Given the description of an element on the screen output the (x, y) to click on. 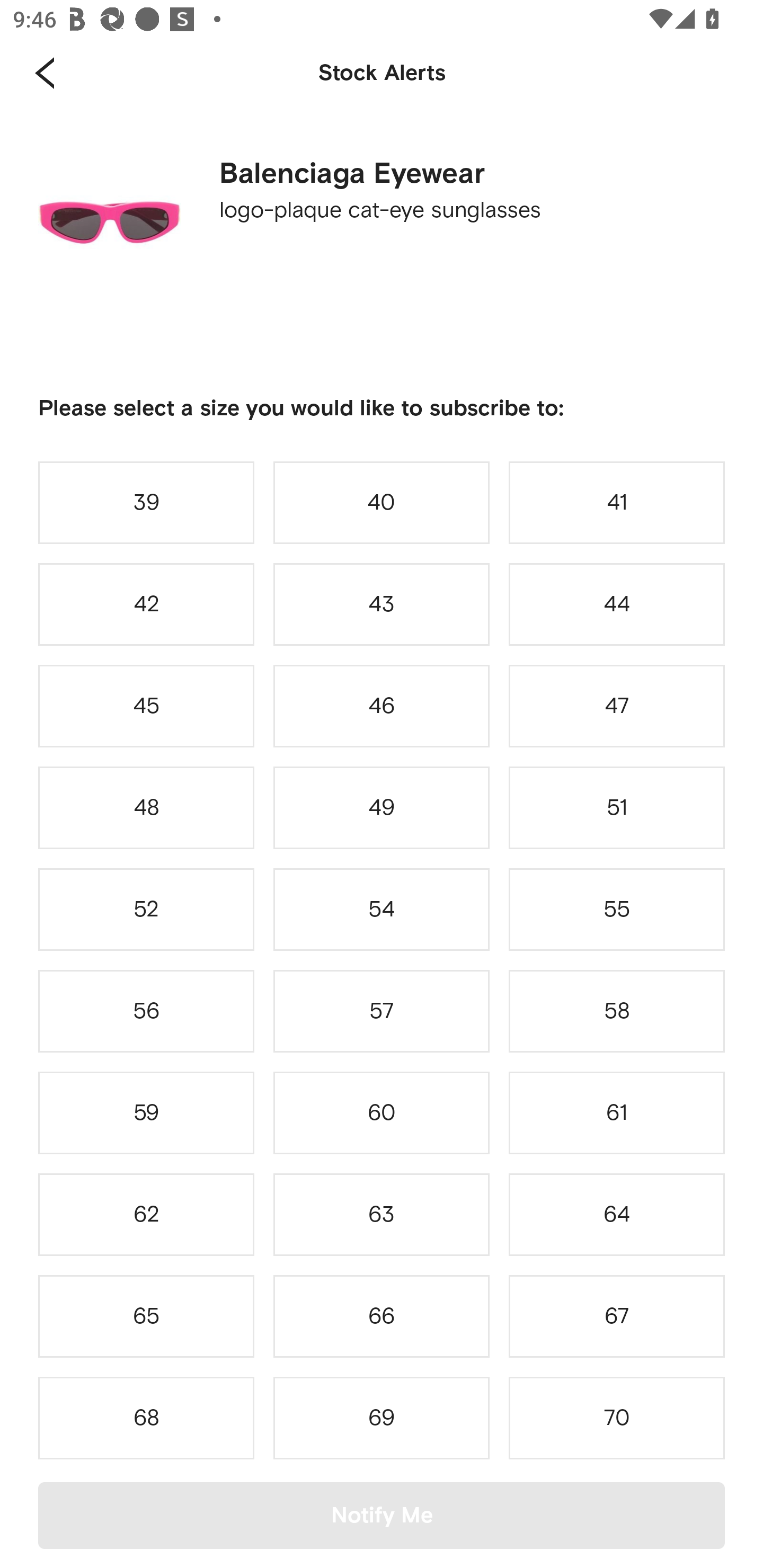
39 (146, 502)
40 (381, 502)
41 (616, 502)
42 (146, 604)
43 (381, 604)
44 (616, 604)
45 (146, 705)
46 (381, 705)
47 (616, 705)
48 (146, 807)
49 (381, 807)
51 (616, 807)
52 (146, 909)
54 (381, 909)
55 (616, 909)
56 (146, 1011)
57 (381, 1011)
58 (616, 1011)
59 (146, 1112)
60 (381, 1112)
61 (616, 1112)
62 (146, 1213)
63 (381, 1213)
64 (616, 1213)
65 (146, 1315)
66 (381, 1315)
67 (616, 1315)
68 (146, 1417)
69 (381, 1417)
70 (616, 1417)
Notify Me (381, 1515)
